Given the description of an element on the screen output the (x, y) to click on. 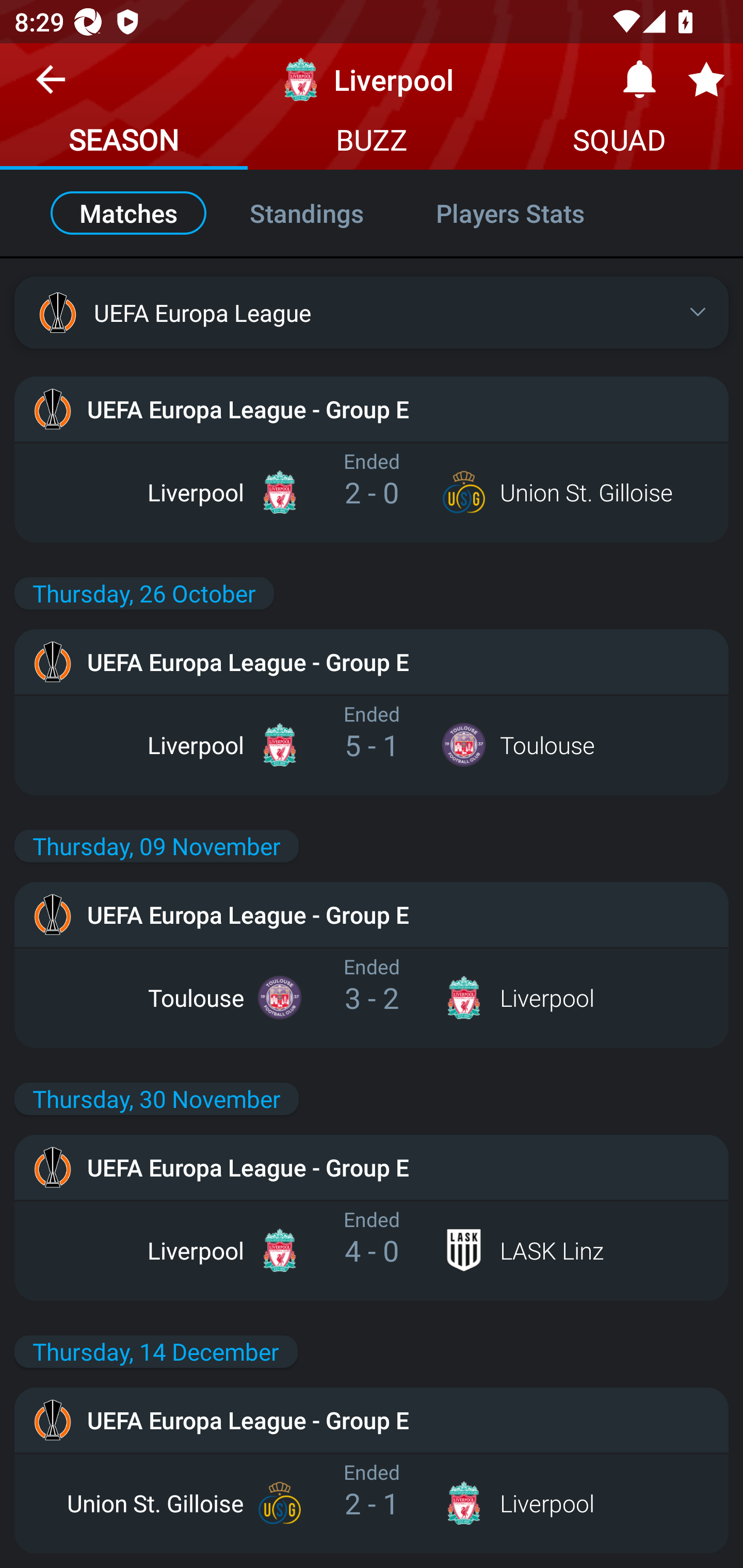
Navigate up (50, 86)
SEASON (123, 142)
BUZZ (371, 142)
SQUAD (619, 142)
Standings (306, 212)
Players Stats (531, 212)
UEFA Europa League (371, 311)
UEFA Europa League - Group E (371, 409)
Liverpool Ended 2 - 0 Union St. Gilloise (371, 492)
UEFA Europa League - Group E (371, 661)
Liverpool Ended 5 - 1 Toulouse (371, 744)
UEFA Europa League - Group E (371, 914)
Toulouse Ended 3 - 2 Liverpool (371, 997)
UEFA Europa League - Group E (371, 1167)
Liverpool Ended 4 - 0 LASK Linz (371, 1250)
UEFA Europa League - Group E (371, 1419)
Union St. Gilloise Ended 2 - 1 Liverpool (371, 1502)
